Given the description of an element on the screen output the (x, y) to click on. 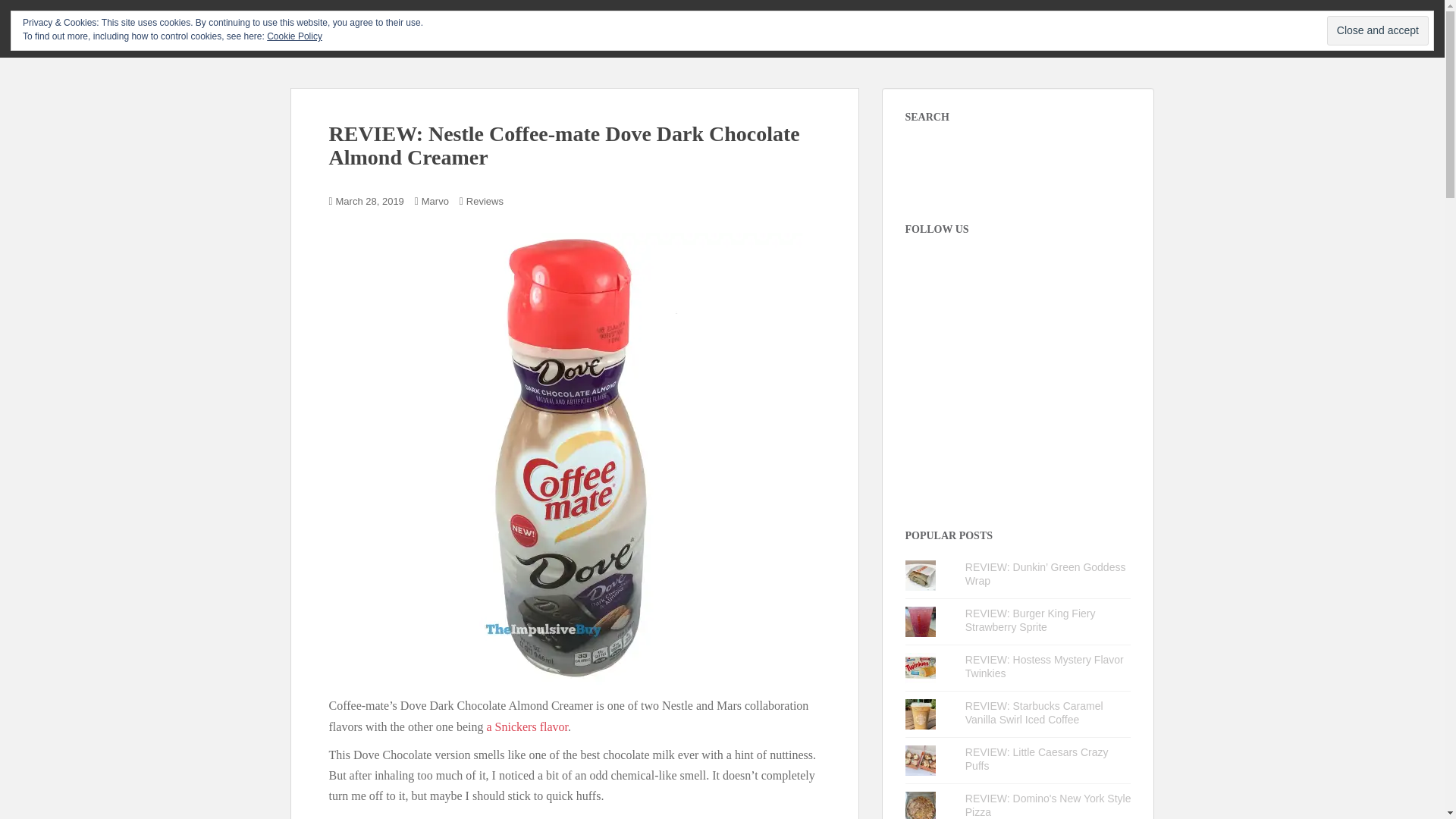
Marvo (435, 201)
a Snickers flavor (526, 726)
FAST FOOD REVIEWS (896, 26)
REVIEW: Burger King Fiery Strawberry Sprite (1030, 620)
RECENT REVIEWS (788, 26)
Reviews (484, 201)
REVIEW: Starbucks Caramel Vanilla Swirl Iced Coffee (1034, 712)
REVIEW: Hostess Mystery Flavor Twinkies (1044, 666)
REVIEW: Burger King Fiery Strawberry Sprite (1030, 620)
